Given the description of an element on the screen output the (x, y) to click on. 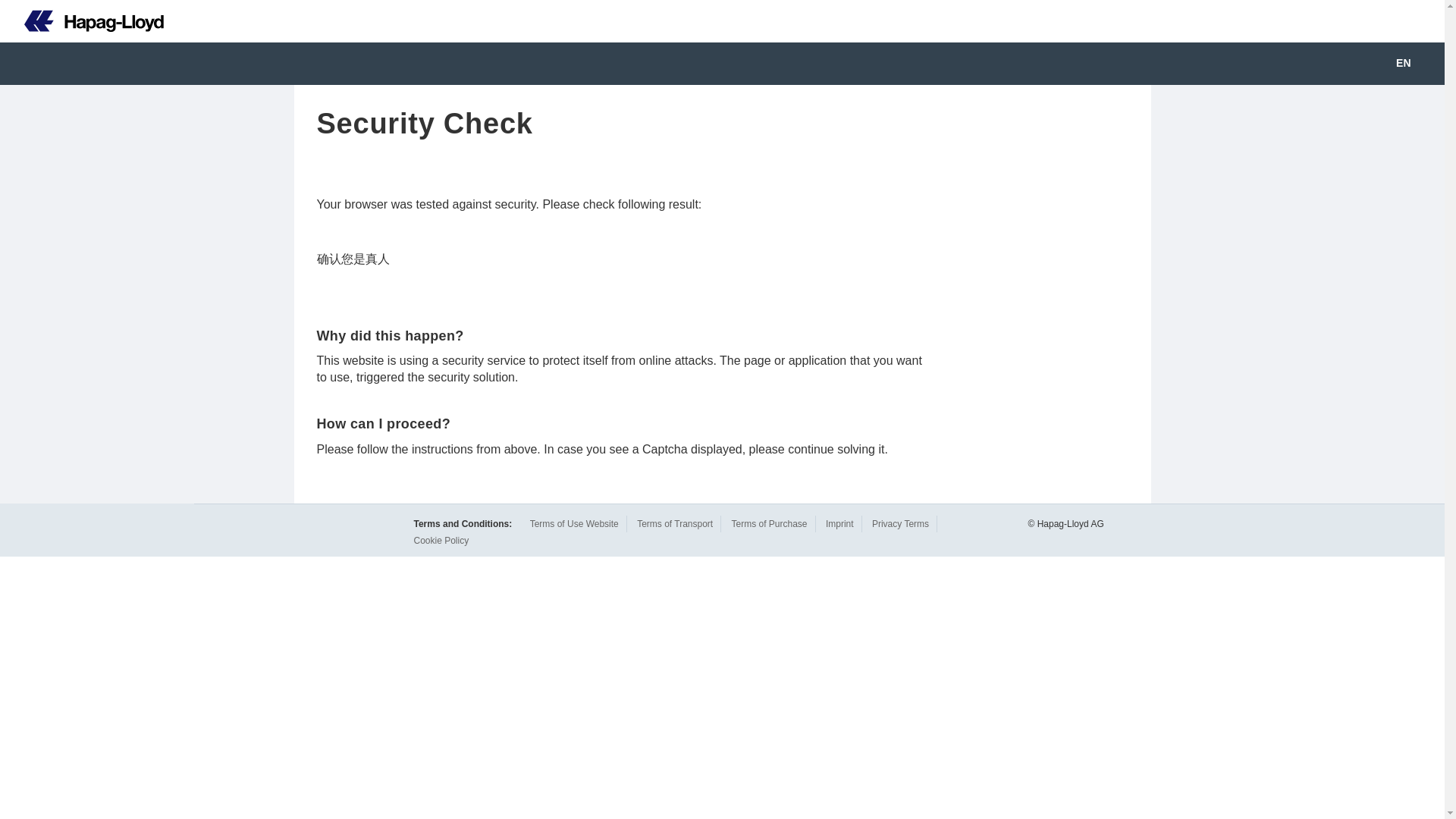
Terms of Transport (675, 523)
Terms of Purchase (768, 523)
Hapag-Lloyd Logo (81, 21)
Cookie Policy (440, 540)
Terms of Use Website (573, 523)
Hapag-Lloyd Logo (93, 21)
Privacy Terms (900, 523)
EN (1414, 63)
Imprint (839, 523)
